Given the description of an element on the screen output the (x, y) to click on. 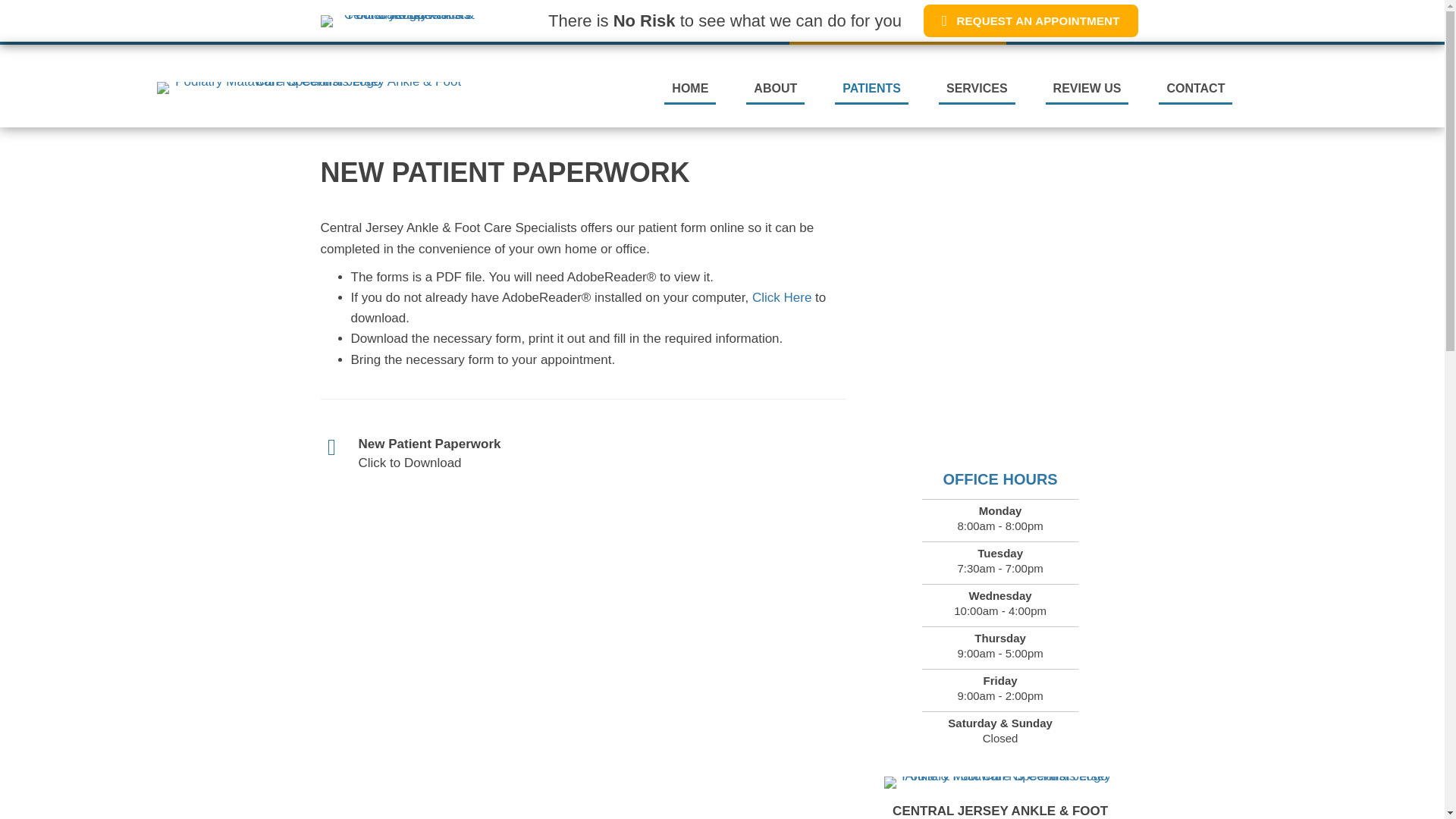
HOME (689, 89)
REQUEST AN APPOINTMENT (1030, 21)
ABOUT (775, 89)
SERVICES (976, 89)
PATIENTS (871, 89)
